Given the description of an element on the screen output the (x, y) to click on. 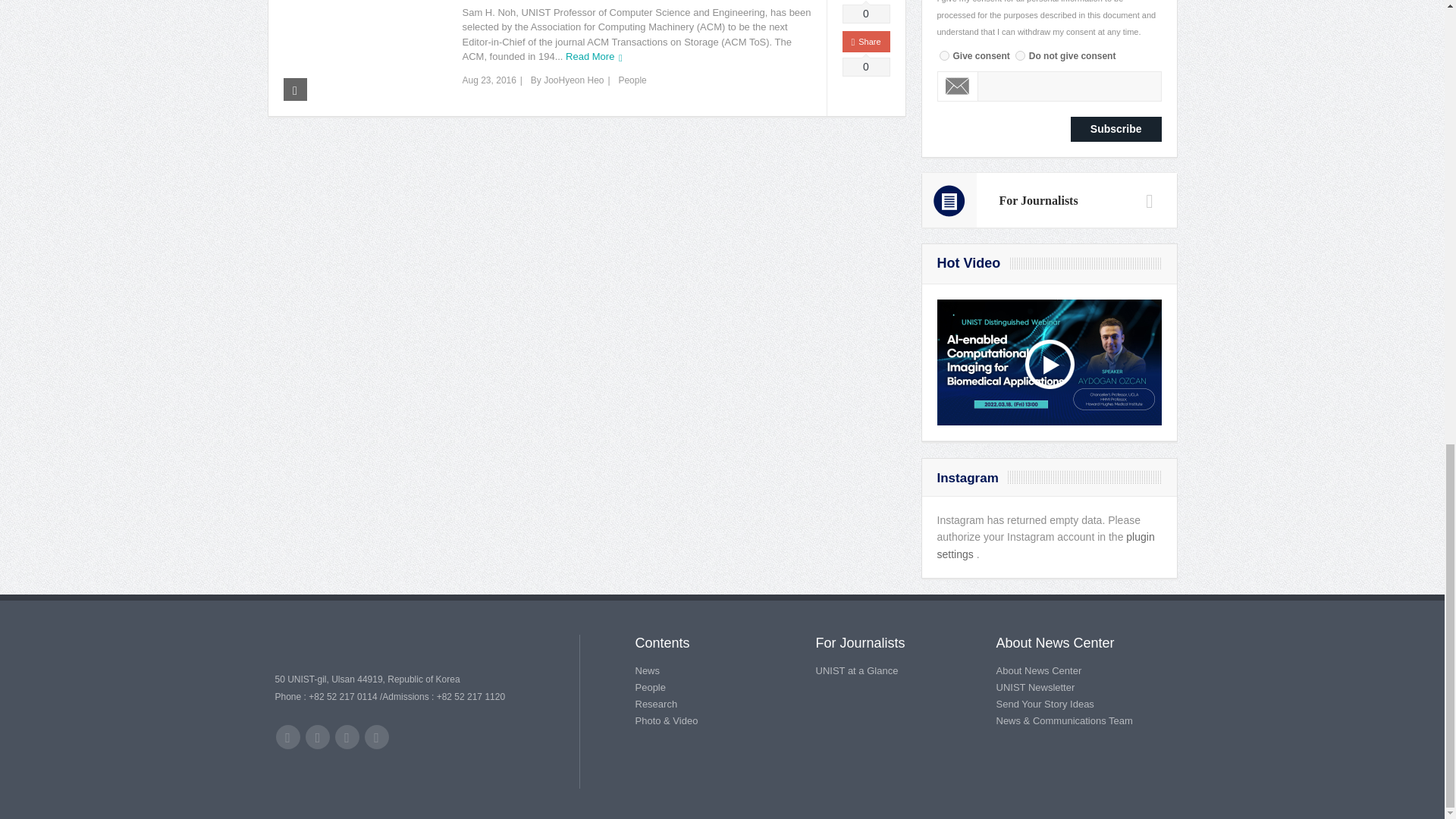
agree (944, 55)
Subscribe (1115, 129)
